Given the description of an element on the screen output the (x, y) to click on. 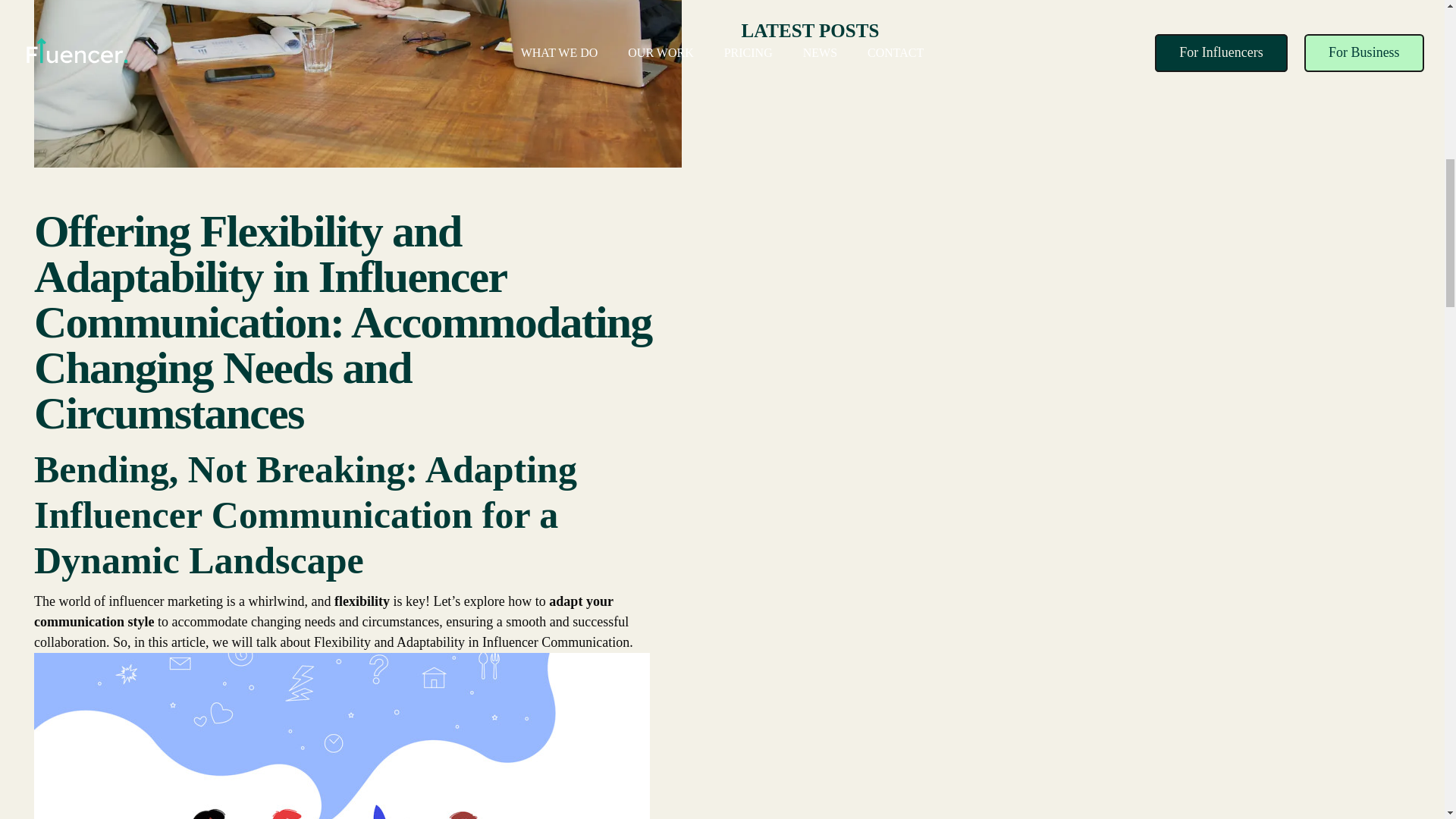
Back to top (1413, 26)
